Given the description of an element on the screen output the (x, y) to click on. 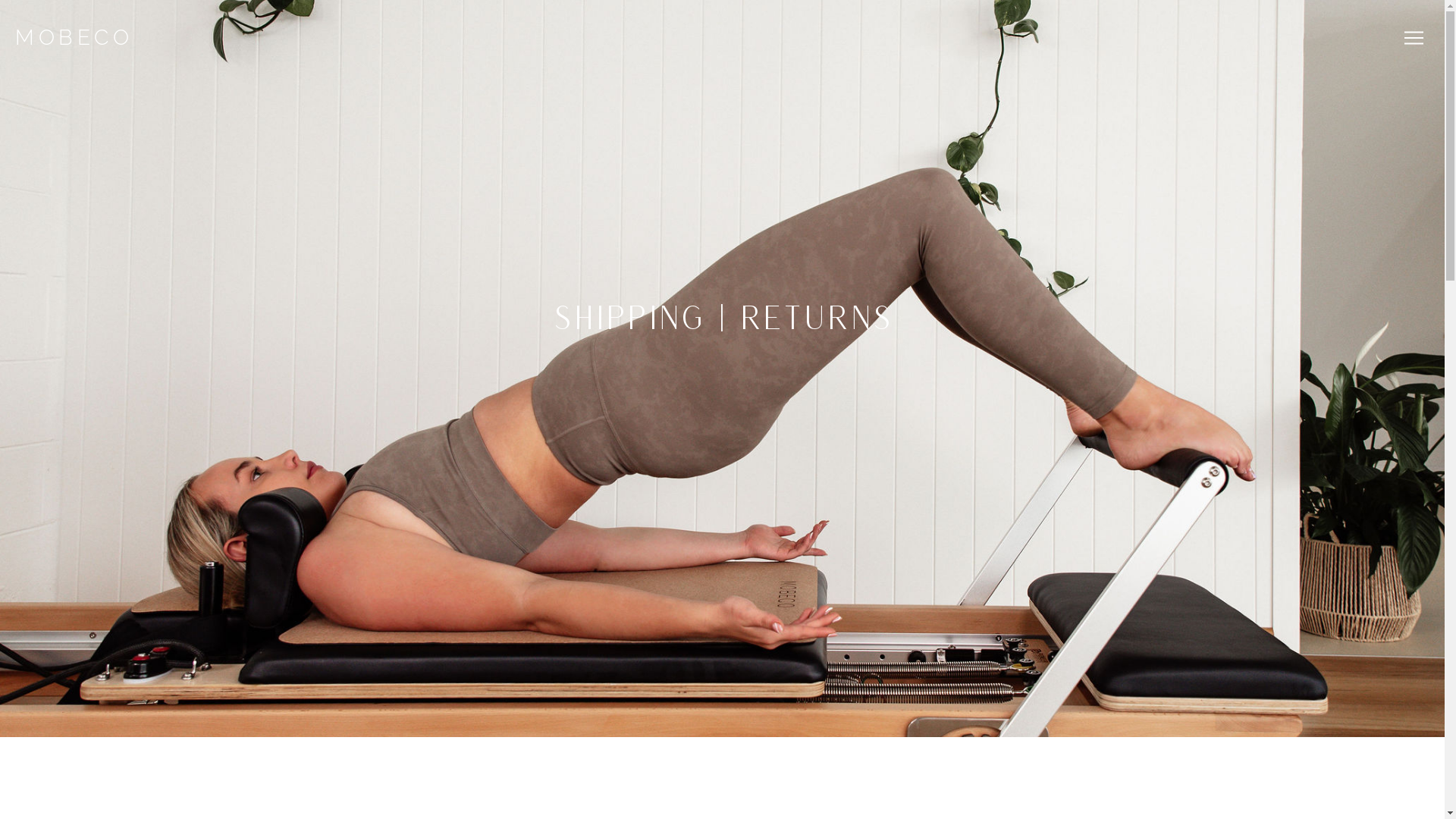
MOBECO Element type: text (71, 37)
